Given the description of an element on the screen output the (x, y) to click on. 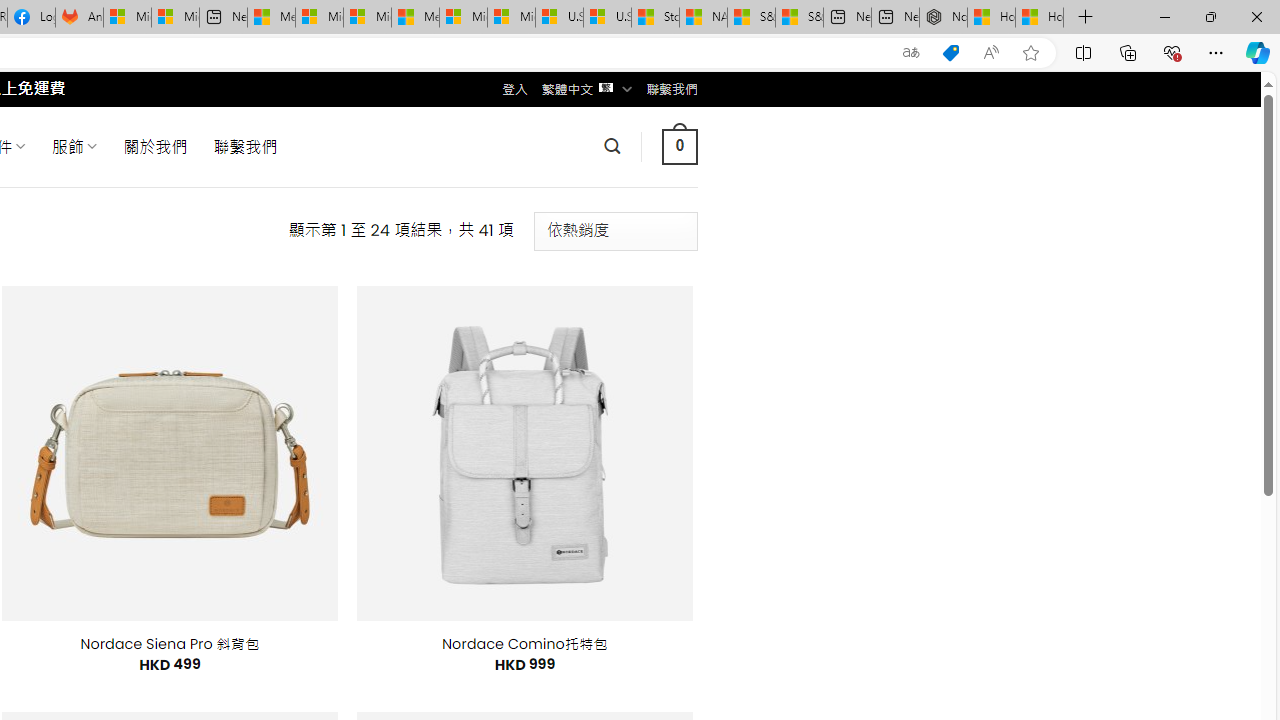
S&P 500, Nasdaq end lower, weighed by Nvidia dip | Watch (799, 17)
Microsoft account | Privacy (319, 17)
